Given the description of an element on the screen output the (x, y) to click on. 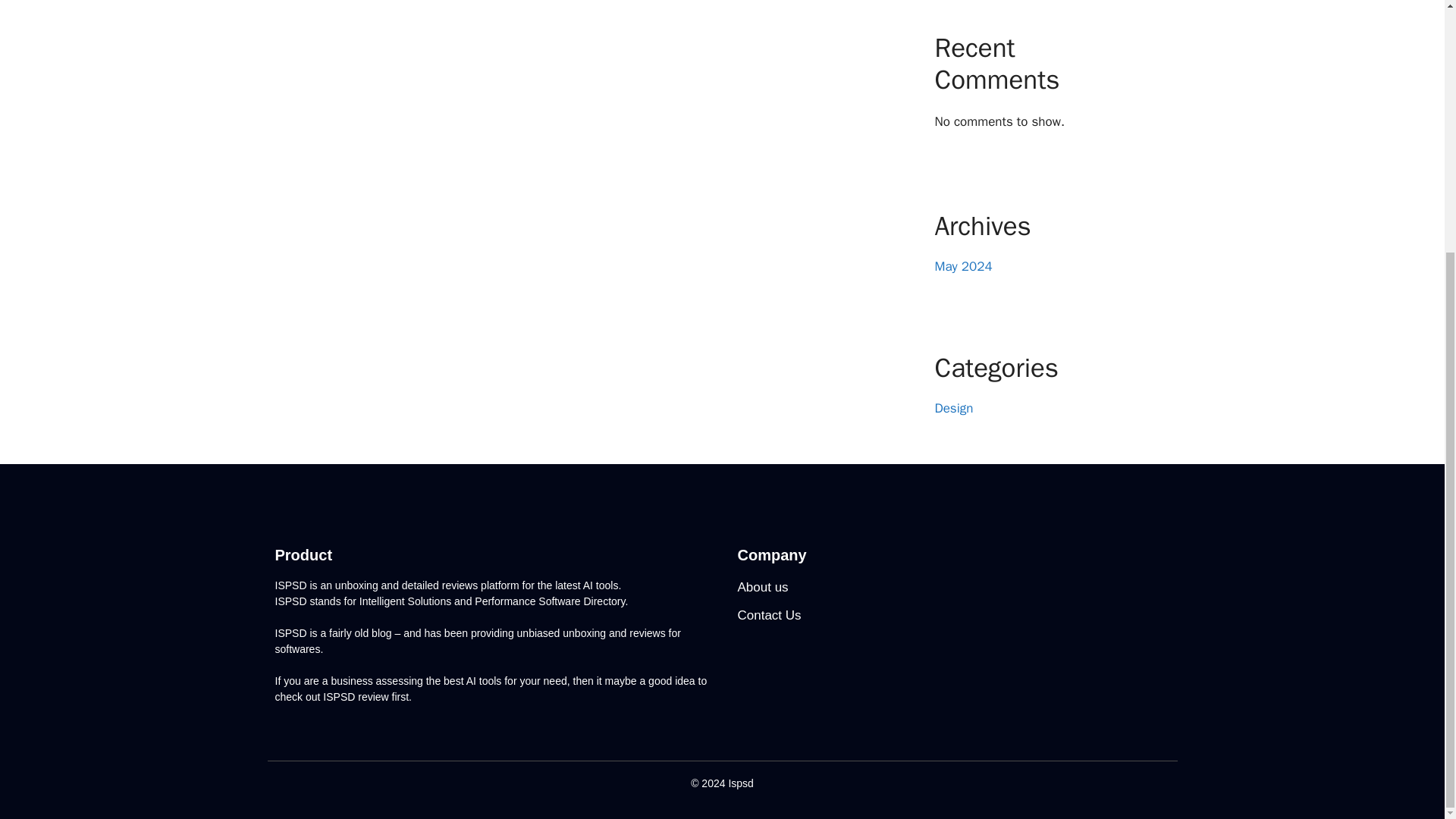
Contact Us (952, 615)
May 2024 (962, 266)
About us (952, 587)
Design (953, 408)
